Given the description of an element on the screen output the (x, y) to click on. 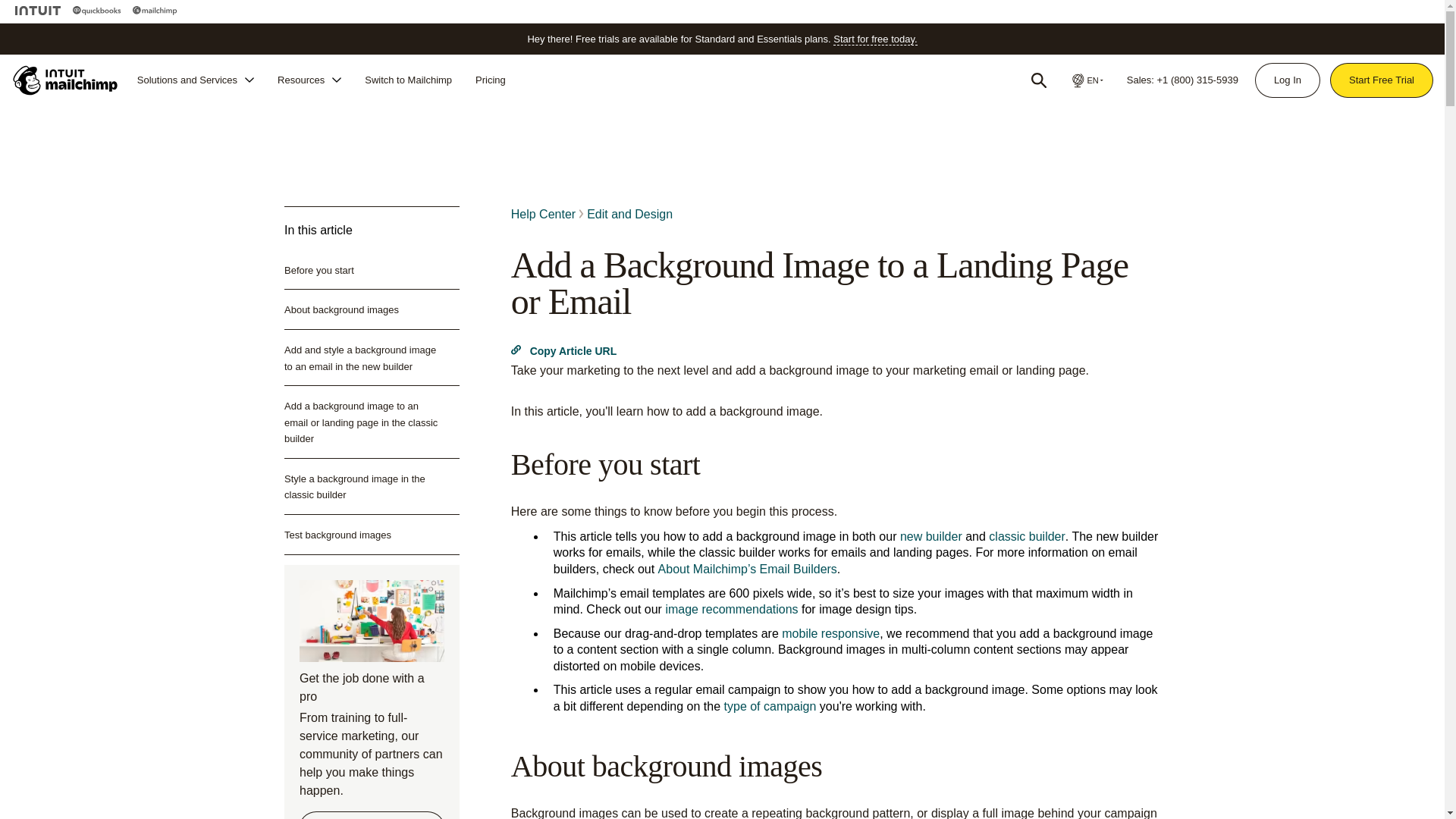
Solutions and Services (195, 79)
Copy Article URL (564, 350)
Switch to Mailchimp (408, 79)
Edit and Design (629, 214)
Search (1038, 80)
Log In (1287, 80)
Resources (308, 79)
new builder (930, 535)
